Given the description of an element on the screen output the (x, y) to click on. 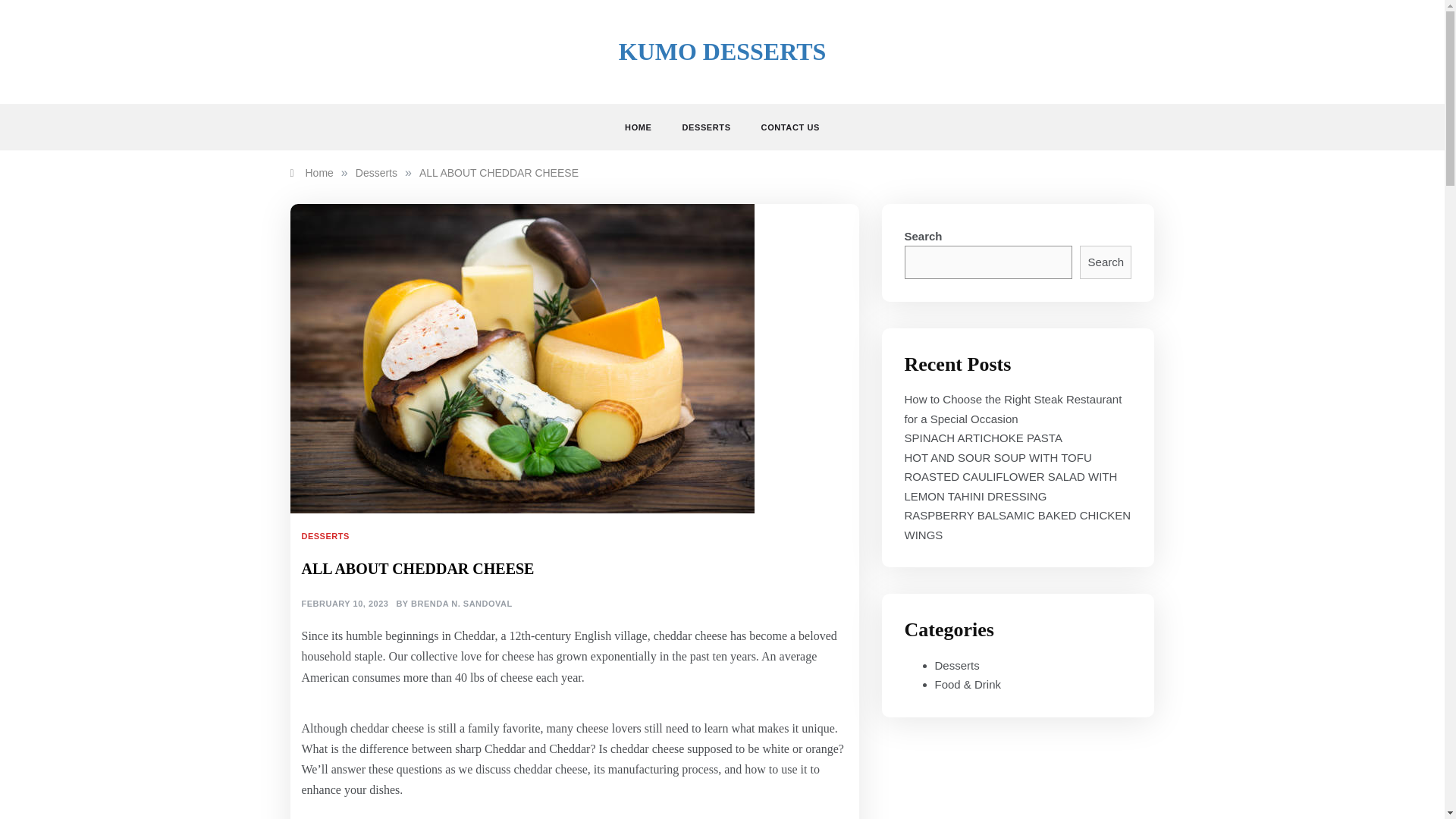
DESSERTS (705, 126)
Search (1105, 262)
FEBRUARY 10, 2023 (344, 604)
HOME (645, 126)
SPINACH ARTICHOKE PASTA (982, 437)
ROASTED CAULIFLOWER SALAD WITH LEMON TAHINI DRESSING (1010, 486)
DESSERTS (327, 535)
RASPBERRY BALSAMIC BAKED CHICKEN WINGS (1017, 524)
HOT AND SOUR SOUP WITH TOFU (997, 457)
